Given the description of an element on the screen output the (x, y) to click on. 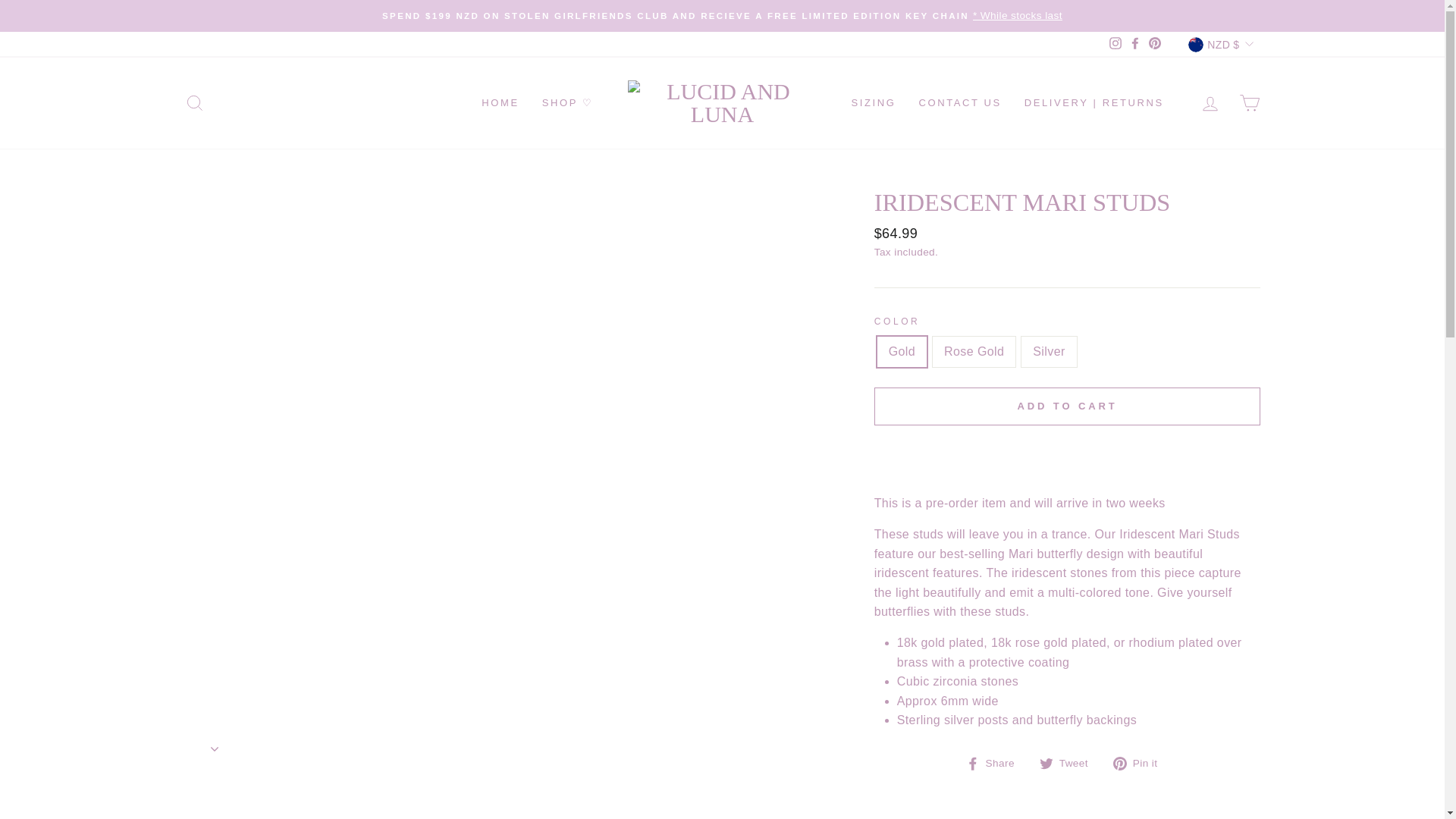
Pin on Pinterest (1141, 762)
Tweet on Twitter (1069, 762)
Share on Facebook (996, 762)
HOME (499, 103)
SEARCH (194, 102)
